Given the description of an element on the screen output the (x, y) to click on. 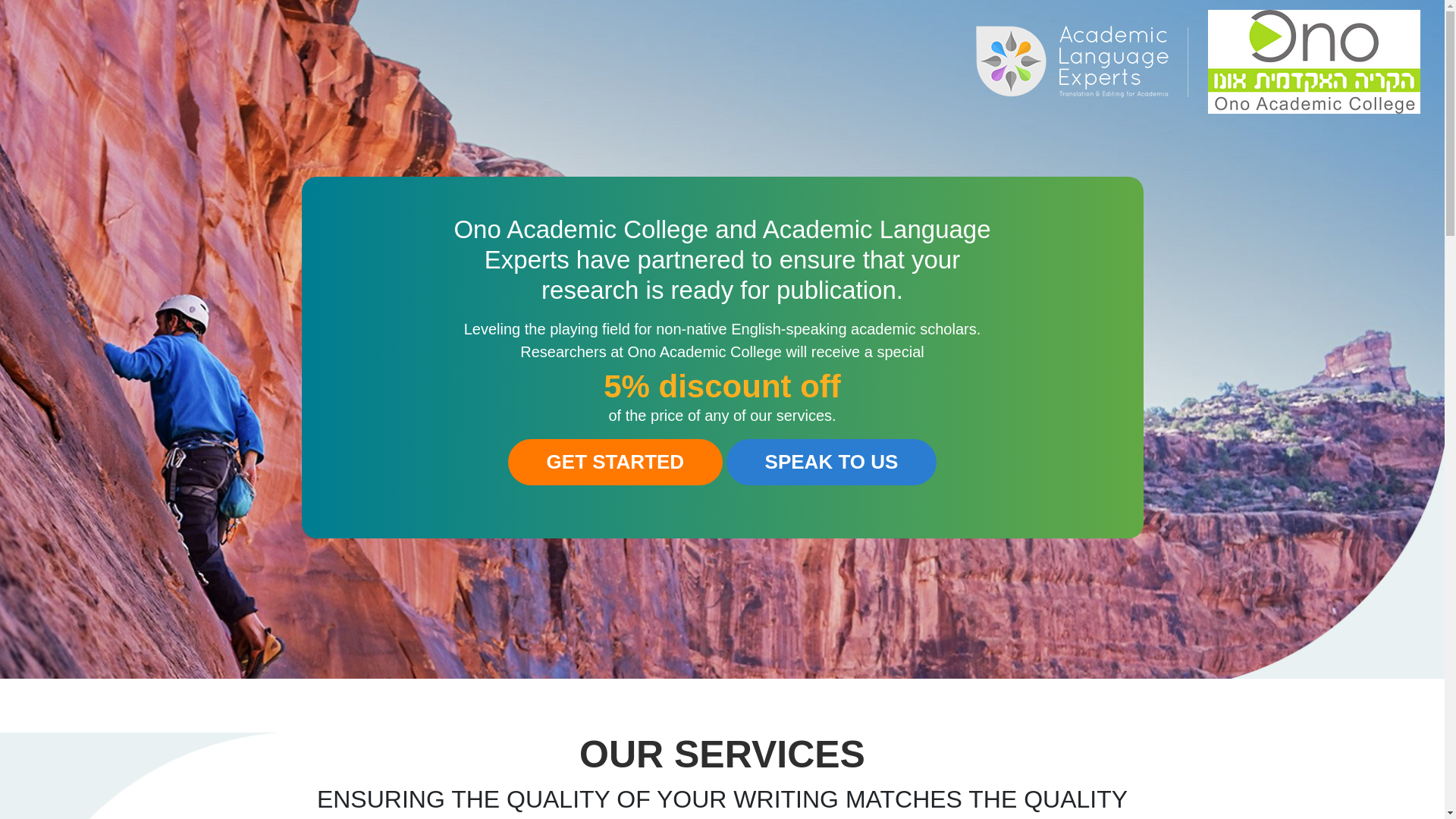
SPEAK TO US (831, 461)
GET STARTED (615, 461)
